Given the description of an element on the screen output the (x, y) to click on. 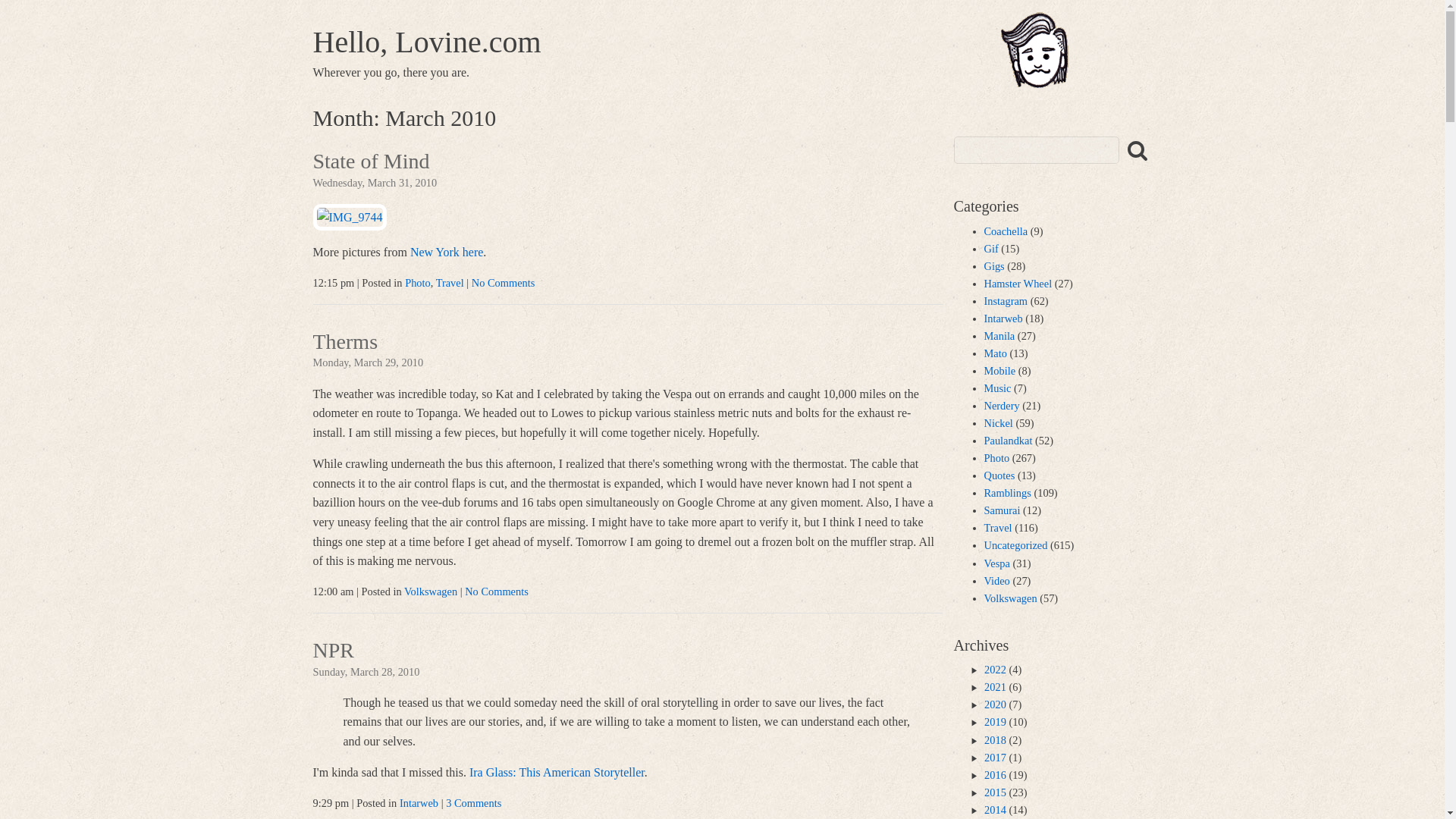
No Comments (503, 282)
Intarweb (418, 802)
Hello, Lovine.com (426, 42)
Ira Glass: This American Storyteller (556, 771)
Photo (417, 282)
No Comments (496, 591)
New York here (446, 251)
State of Mind (371, 162)
NPR (333, 651)
Therms (345, 343)
3 Comments (472, 802)
Travel (449, 282)
Volkswagen (430, 591)
